Given the description of an element on the screen output the (x, y) to click on. 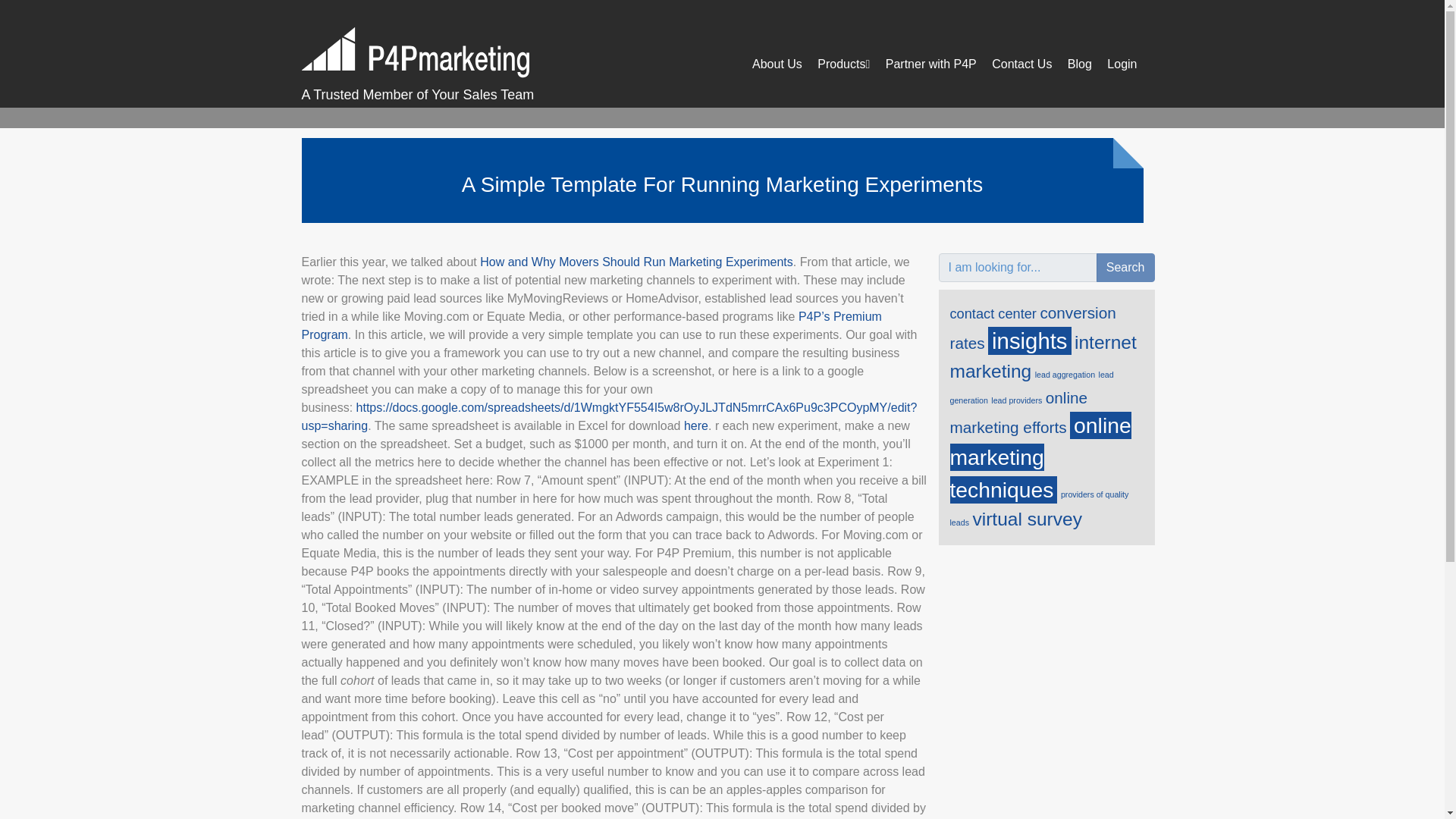
How and Why Movers Should Run Marketing Experiments (636, 261)
contact center (992, 313)
conversion rates (1032, 327)
Login (1121, 63)
online marketing efforts (1018, 412)
here (695, 425)
lead providers (1016, 399)
Search (1125, 267)
providers of quality leads (1038, 508)
Partner with P4P (930, 63)
